Given the description of an element on the screen output the (x, y) to click on. 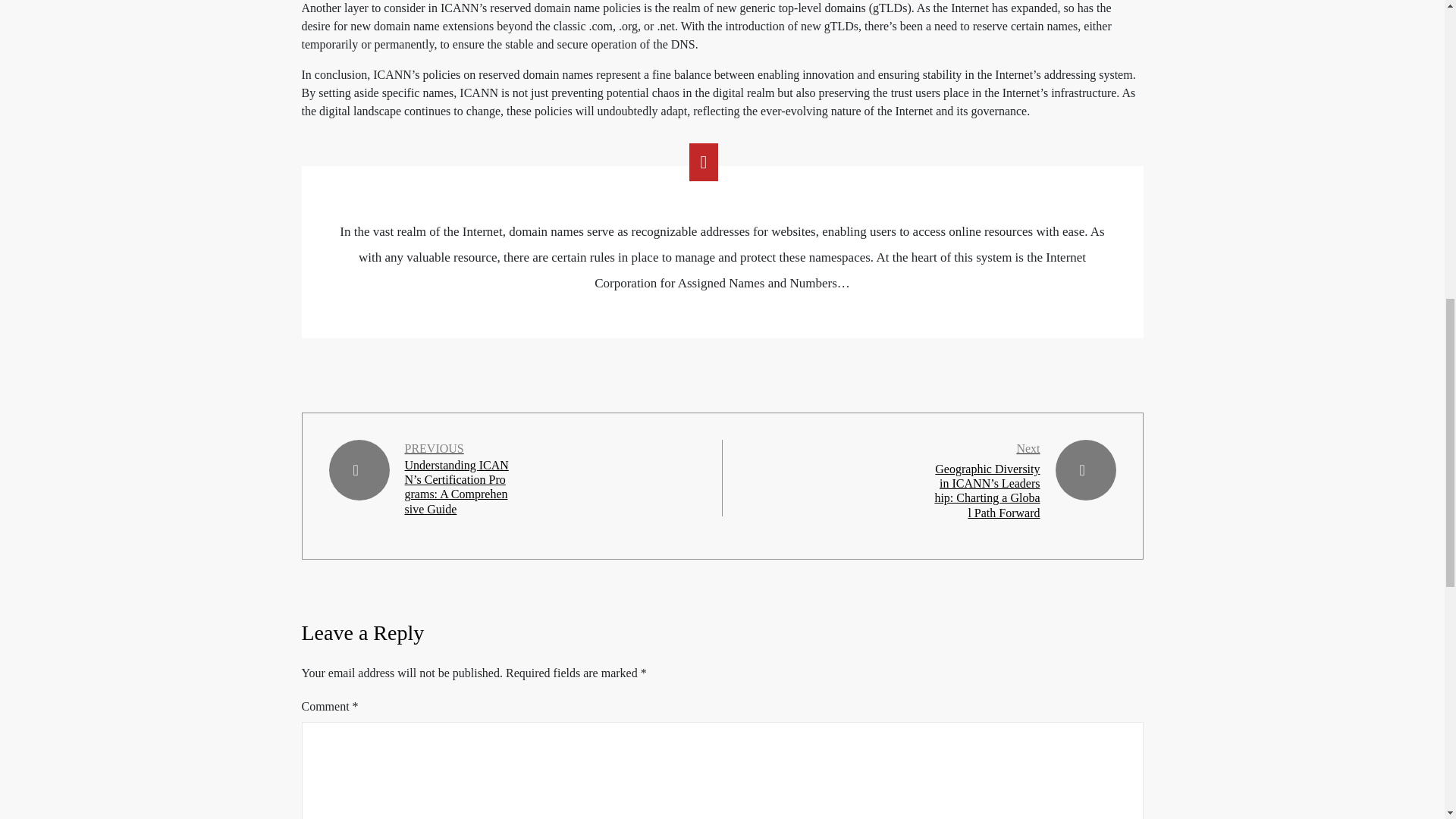
Next (1027, 448)
PREVIOUS (434, 448)
